Given the description of an element on the screen output the (x, y) to click on. 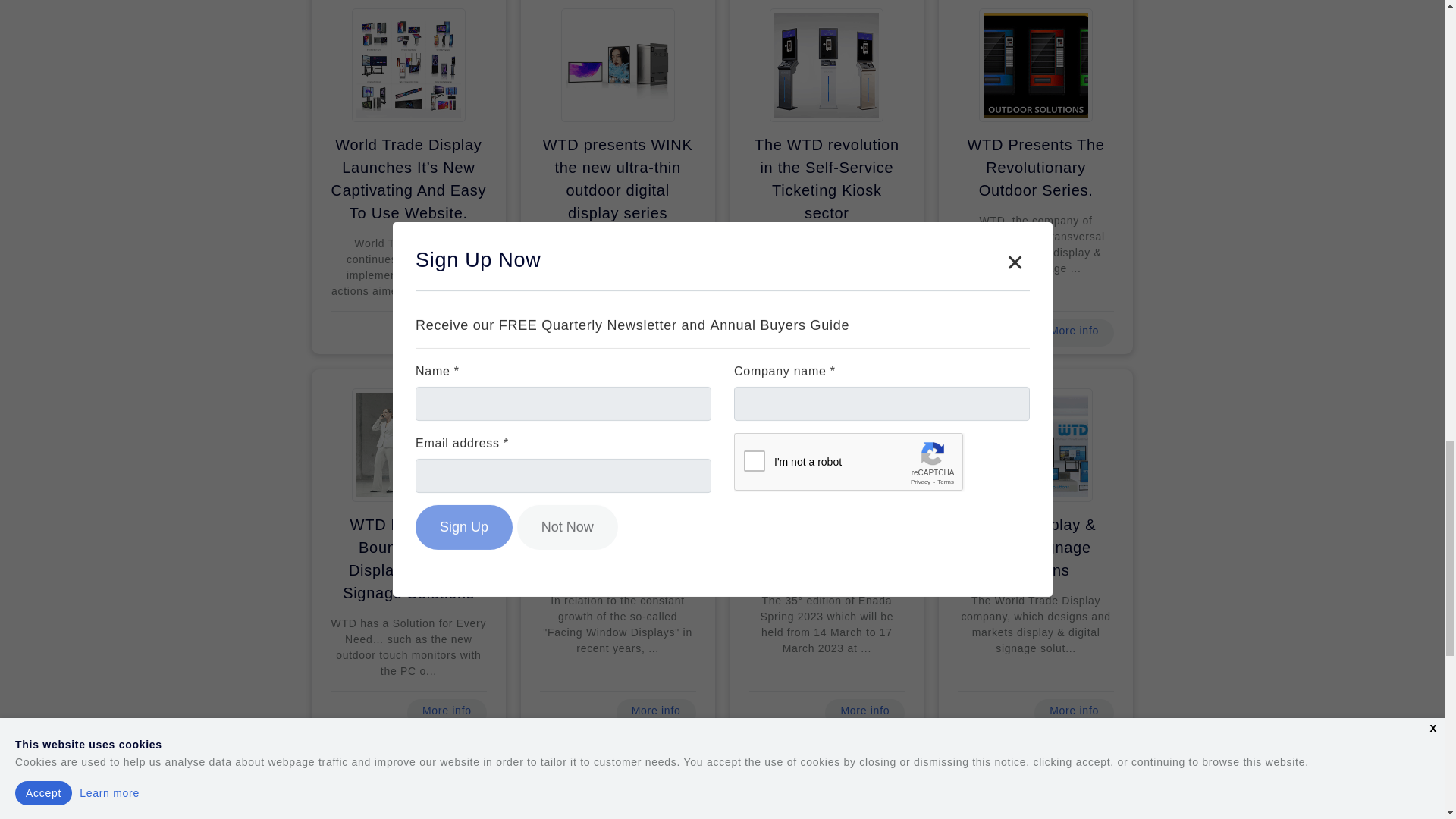
More info (655, 712)
More info (446, 332)
More info (446, 712)
More info (1073, 332)
World Trade Launches Facing Window Display. (617, 547)
More info (864, 332)
WTD Presents The Revolutionary Outdoor Series. (1035, 167)
More info (655, 332)
